Given the description of an element on the screen output the (x, y) to click on. 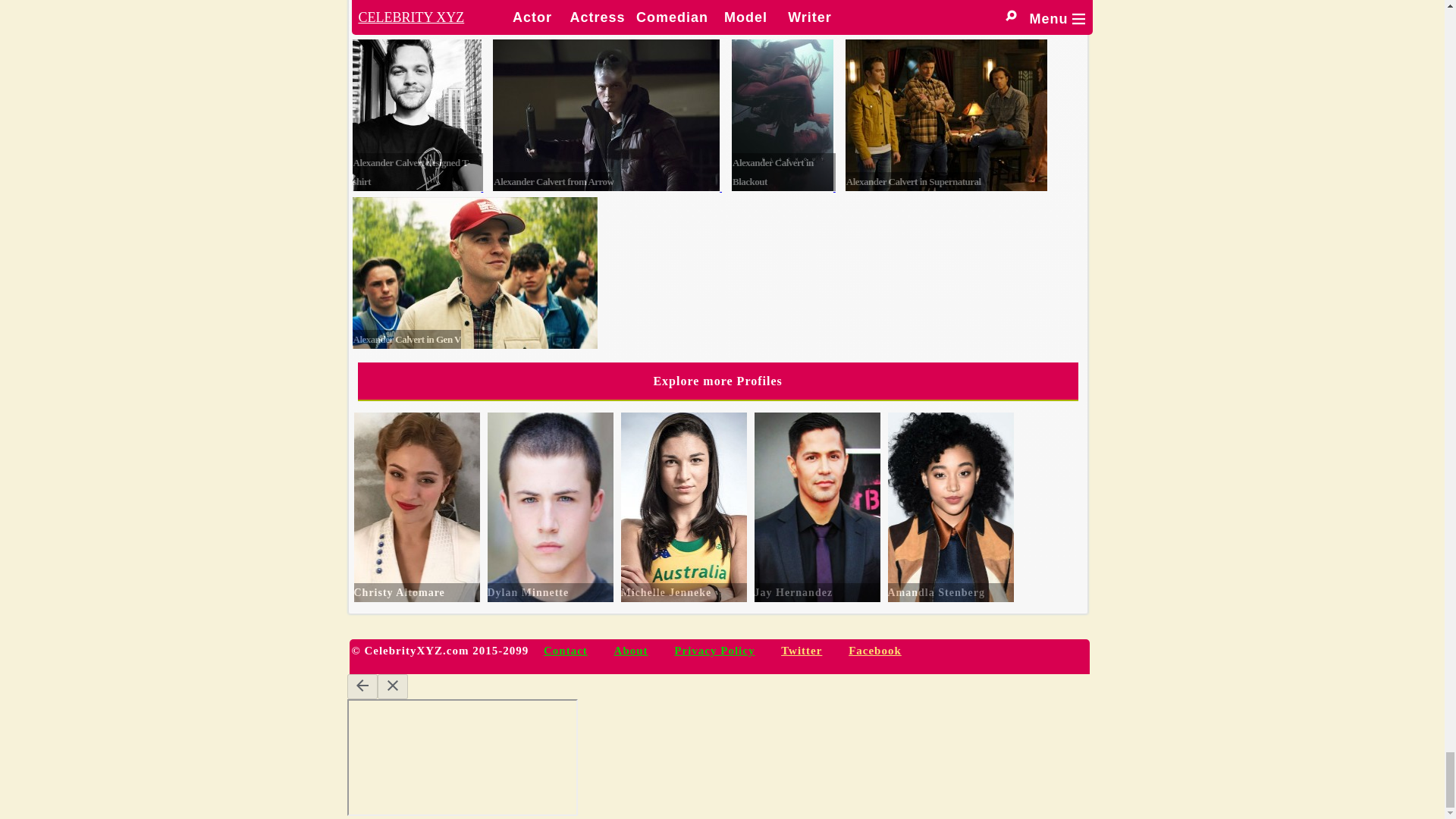
Alexander Calvert designed T-shirt (416, 114)
Photography by Alexander Calvert (694, 16)
Alexander Calvert with wife Jenna Berman (432, 16)
